Given the description of an element on the screen output the (x, y) to click on. 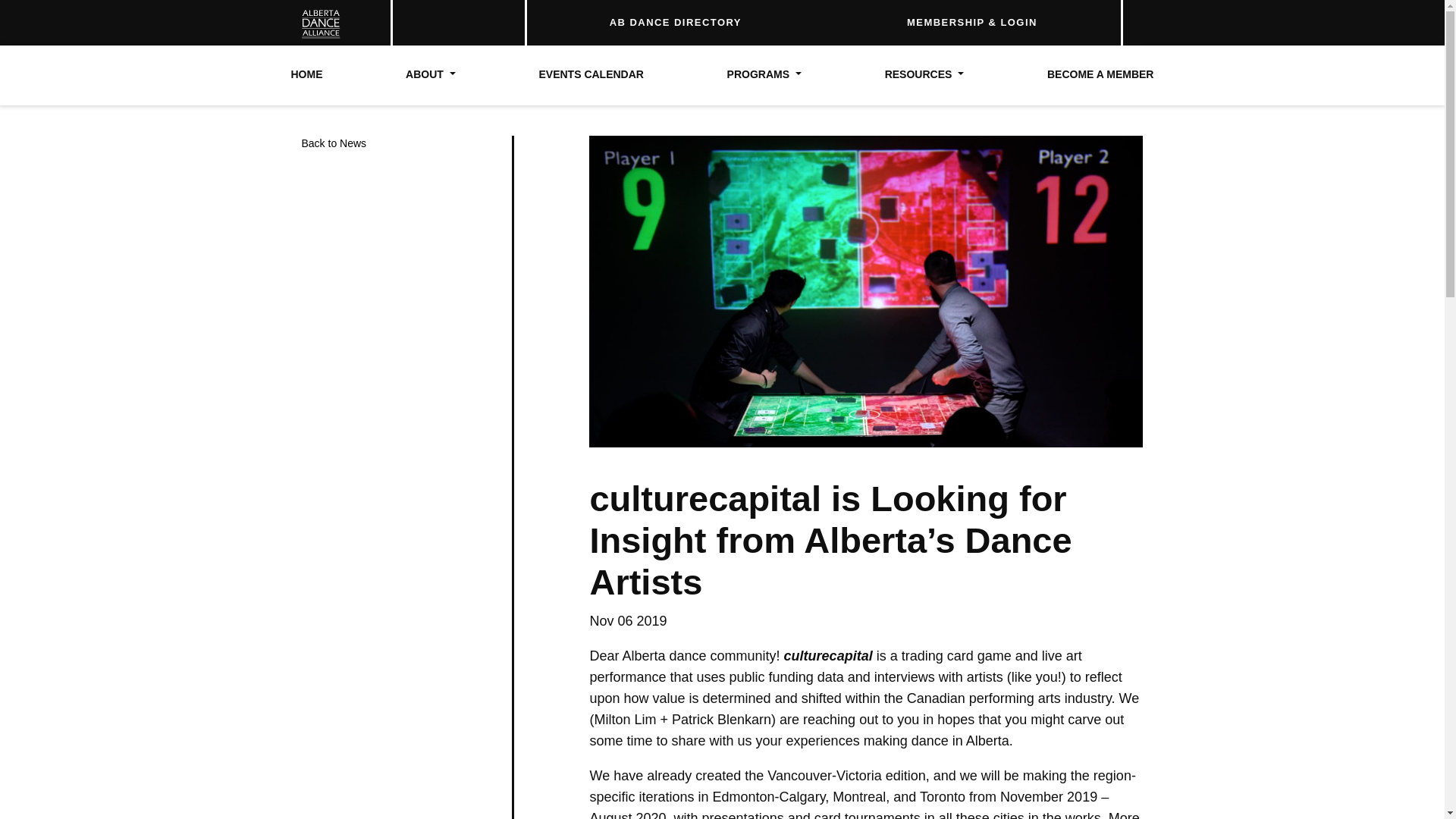
Events Calendar (590, 75)
Search (1098, 17)
BECOME A MEMBER (1100, 75)
Home (307, 75)
RESOURCES (924, 75)
AB DANCE DIRECTORY (675, 22)
PROGRAMS (764, 75)
Programs (764, 75)
About (430, 75)
HOME (307, 75)
ABOUT (430, 75)
Resources (924, 75)
EVENTS CALENDAR (590, 75)
Alberta Dance Alliance (315, 22)
